Given the description of an element on the screen output the (x, y) to click on. 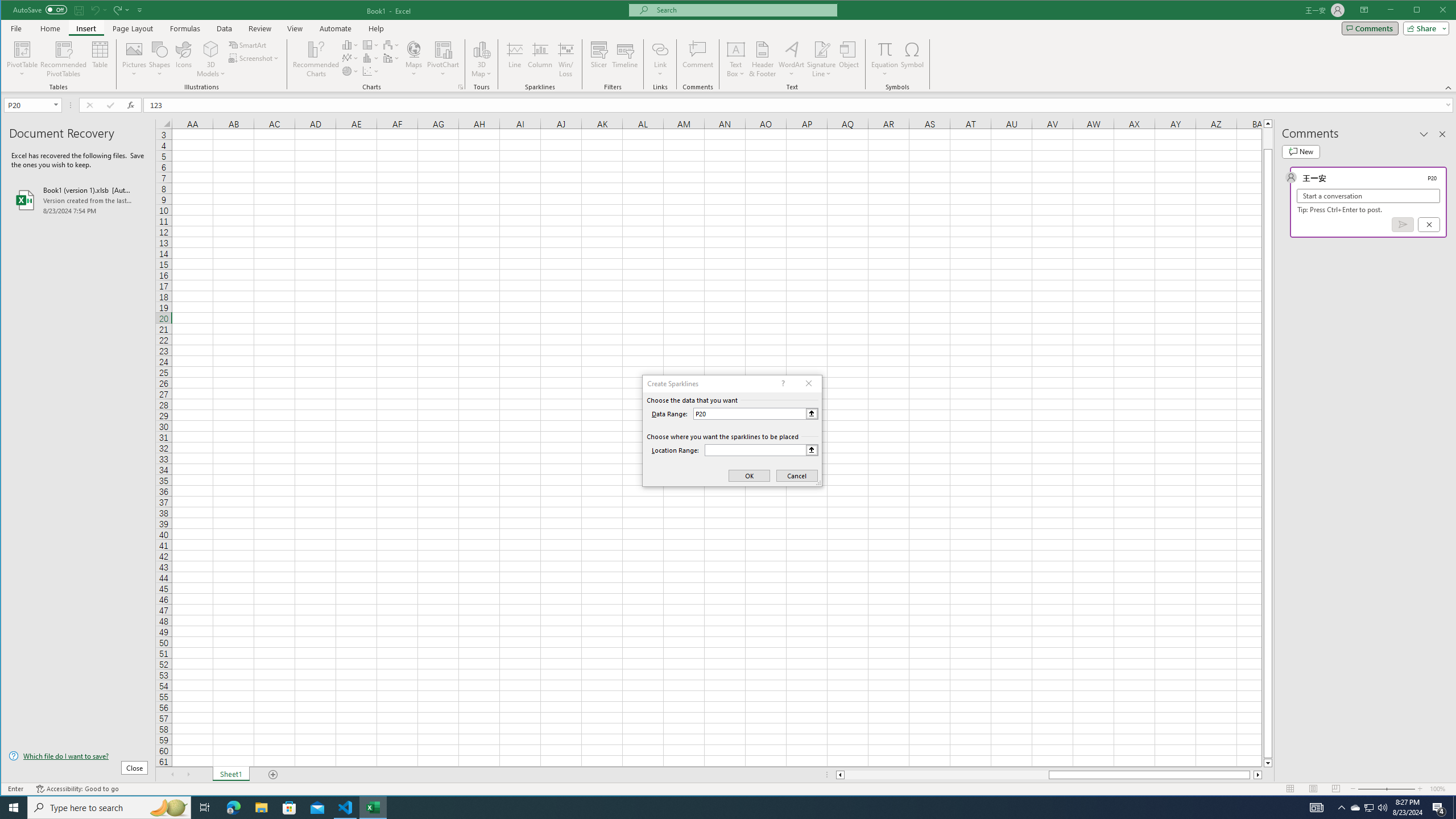
New comment (1300, 151)
Signature Line (821, 48)
Recommended Charts (460, 86)
PivotTable (22, 59)
Insert Hierarchy Chart (371, 44)
Icons (183, 59)
PivotTable (22, 48)
